Given the description of an element on the screen output the (x, y) to click on. 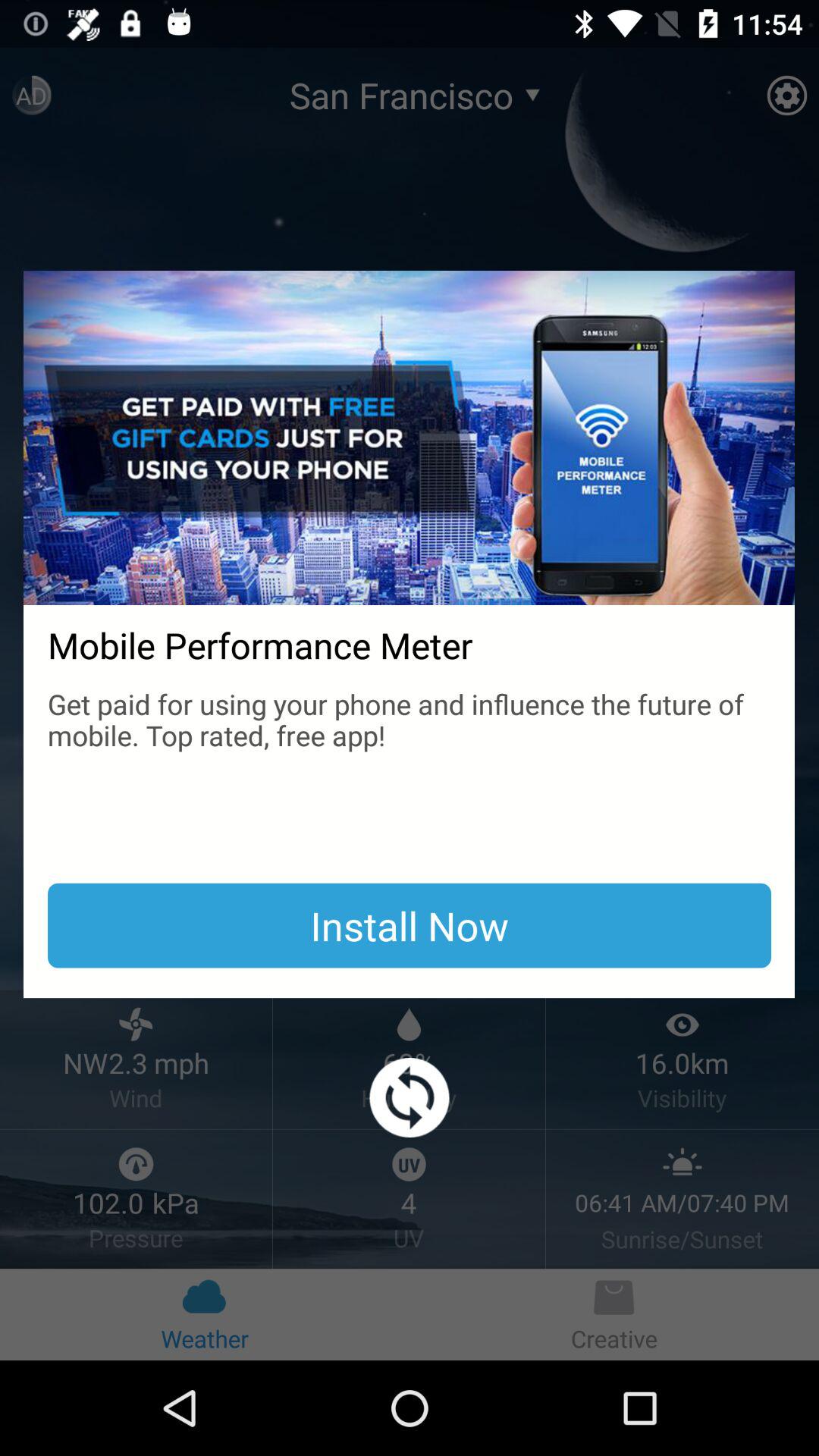
press the item below the get paid for item (409, 925)
